Given the description of an element on the screen output the (x, y) to click on. 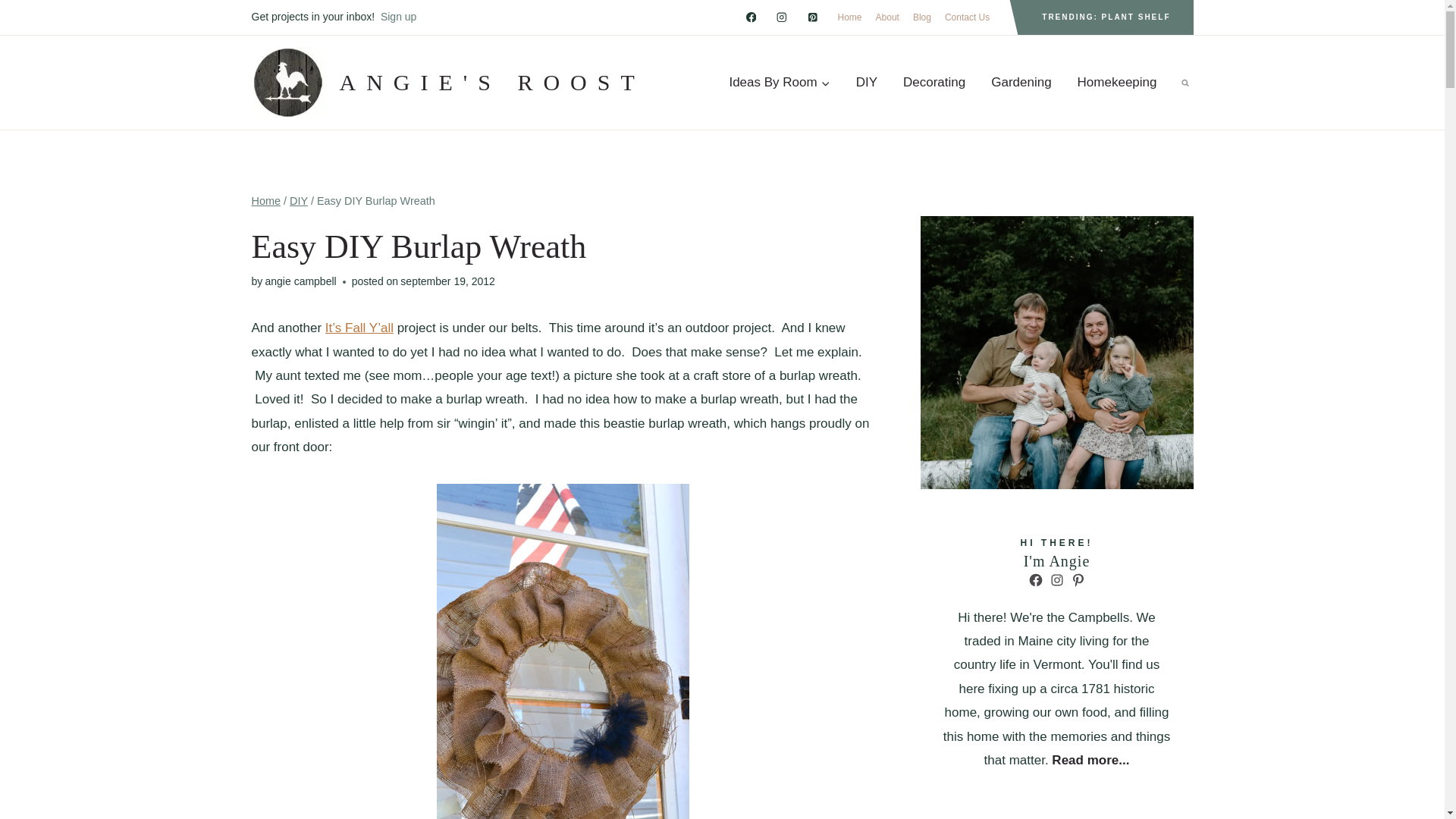
Contact Us (966, 17)
TRENDING: PLANT SHELF (1105, 17)
DIY (298, 200)
Ideas By Room (779, 82)
DIY Burlap Wreath (562, 651)
Sign up (398, 16)
Decorating (933, 82)
ANGIE'S ROOST (448, 81)
Blog (921, 17)
About (887, 17)
Gardening (1021, 82)
Home (850, 17)
DIY (866, 82)
Home (266, 200)
Homekeeping (1117, 82)
